Given the description of an element on the screen output the (x, y) to click on. 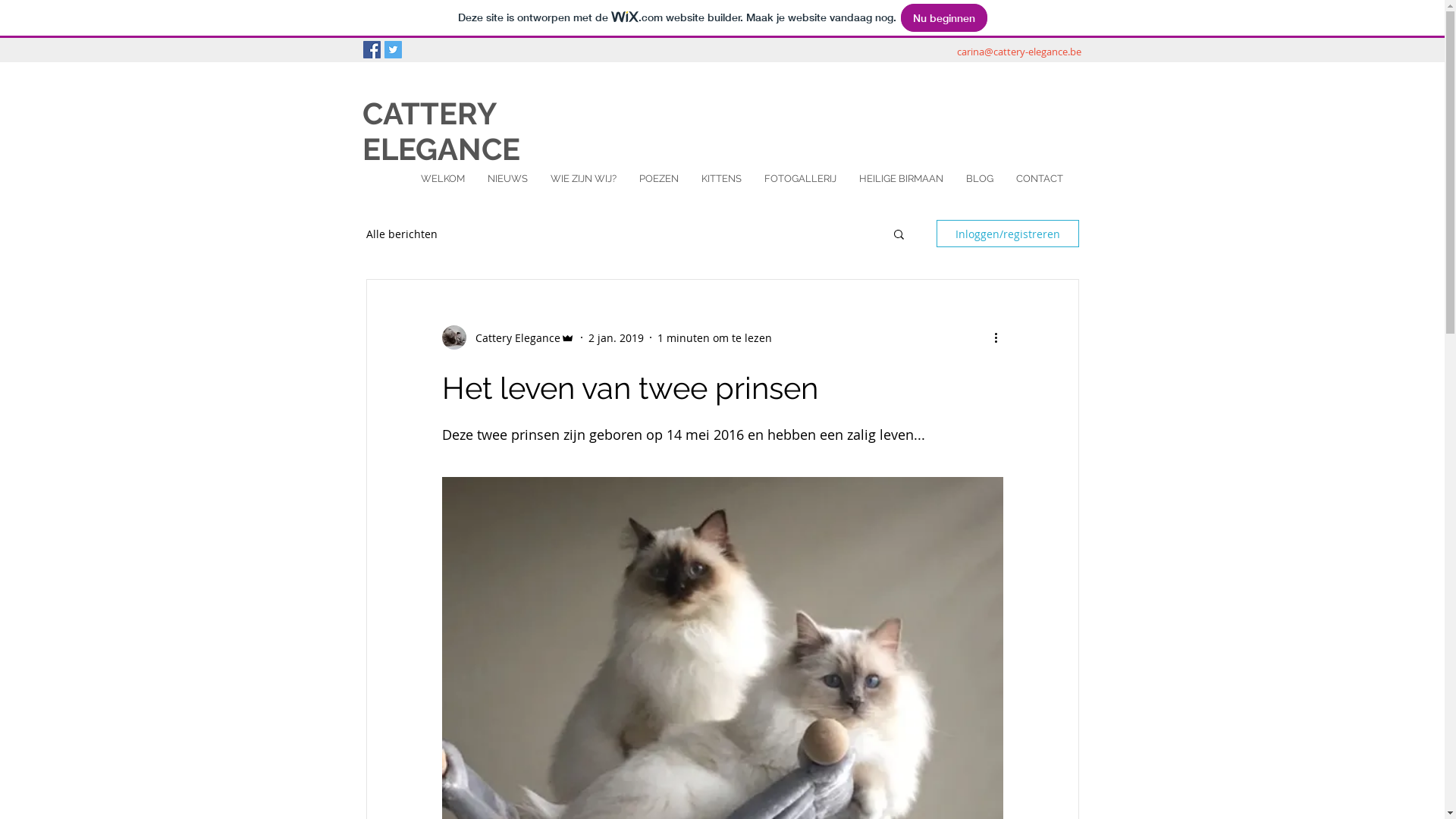
Alle berichten Element type: text (400, 232)
POEZEN Element type: text (658, 186)
CONTACT Element type: text (1038, 186)
carina@cattery-elegance.be Element type: text (1019, 51)
WIE ZIJN WIJ? Element type: text (582, 186)
NIEUWS Element type: text (507, 186)
KITTENS Element type: text (721, 186)
Inloggen/registreren Element type: text (1006, 233)
CATTERY ELEGANCE Element type: text (441, 130)
BLOG Element type: text (978, 186)
FOTOGALLERIJ Element type: text (799, 186)
HEILIGE BIRMAAN Element type: text (900, 186)
WELKOM Element type: text (442, 186)
